Given the description of an element on the screen output the (x, y) to click on. 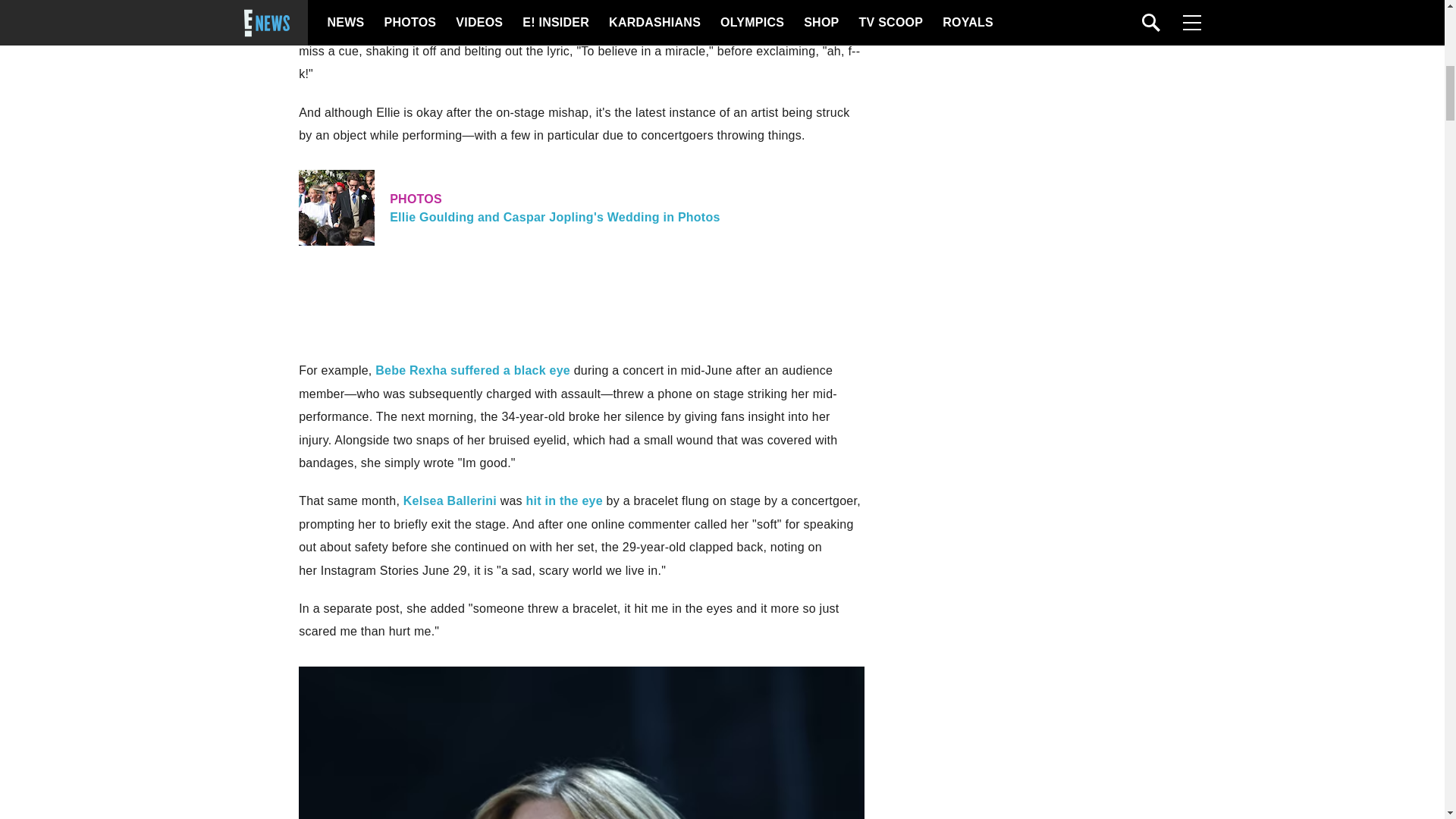
suffered a black eye (509, 369)
posted to social media (413, 5)
Bebe Rexha (410, 369)
Kelsea Ballerini (449, 500)
hit in the eye (581, 207)
